Given the description of an element on the screen output the (x, y) to click on. 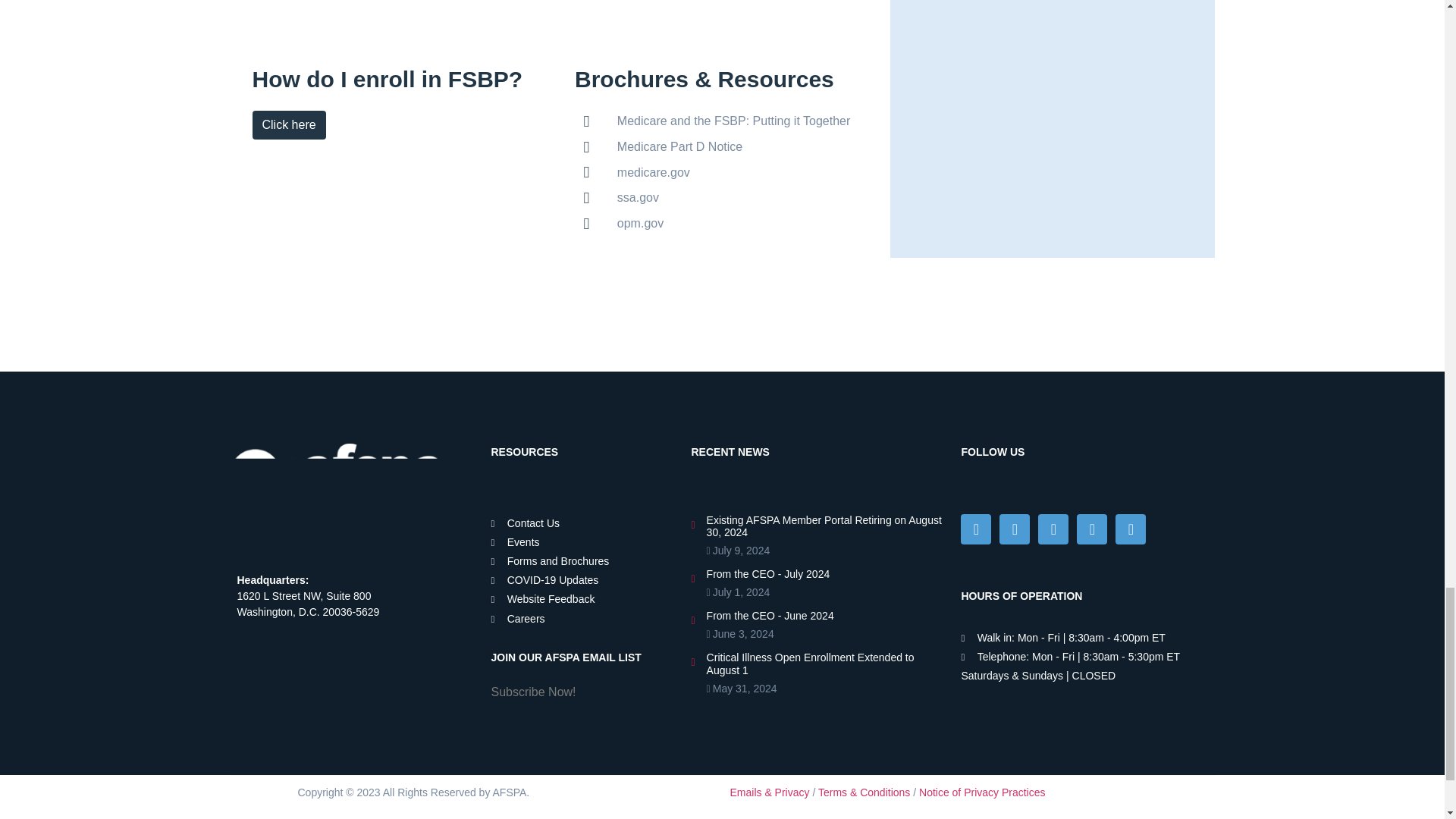
1620 L Street NW, Washington, DC 20036 (335, 688)
